Given the description of an element on the screen output the (x, y) to click on. 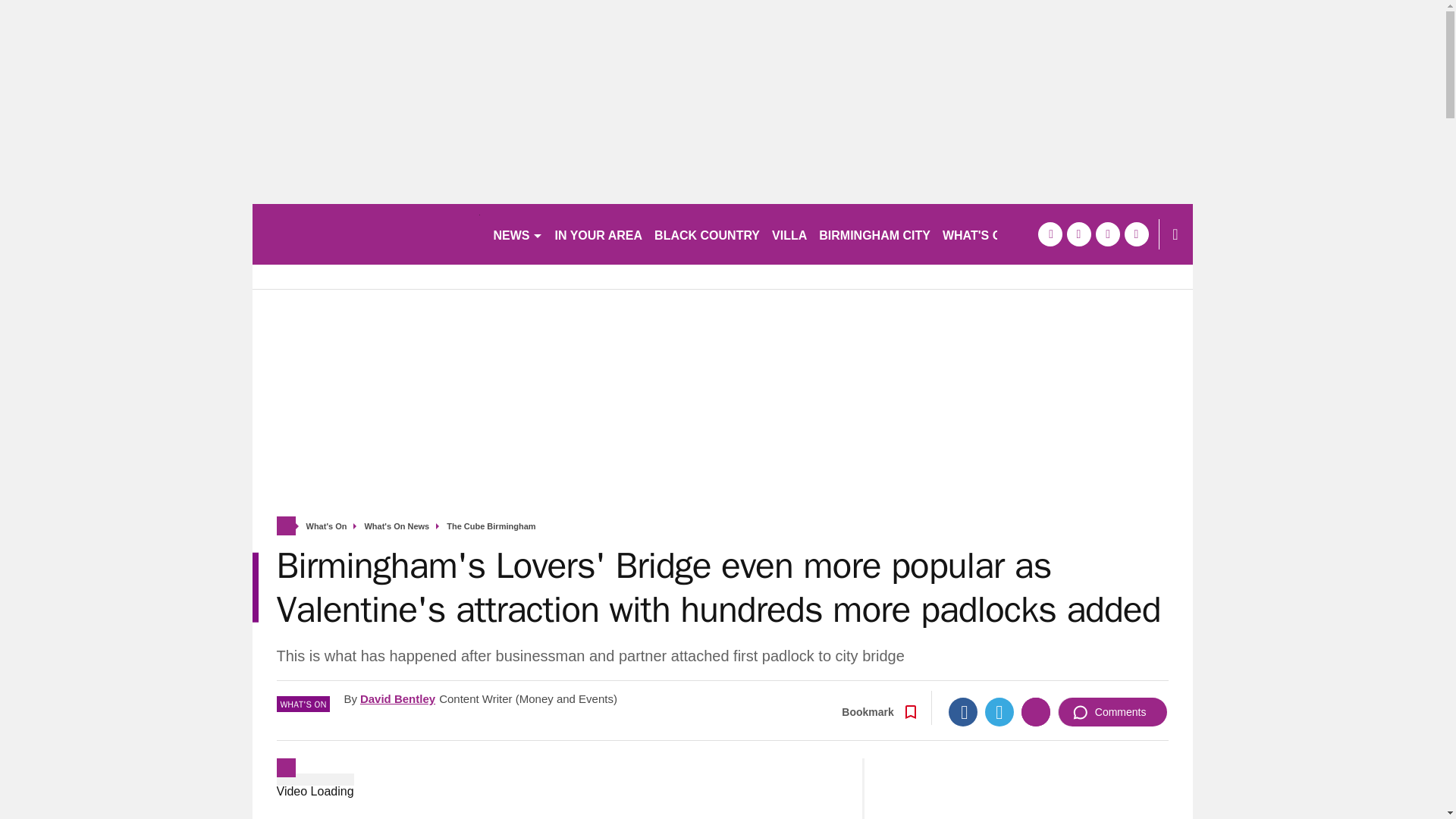
IN YOUR AREA (598, 233)
Twitter (999, 711)
WHAT'S ON (982, 233)
birminghammail (365, 233)
instagram (1136, 233)
Facebook (962, 711)
BLACK COUNTRY (706, 233)
NEWS (517, 233)
tiktok (1106, 233)
Comments (1112, 711)
facebook (1048, 233)
BIRMINGHAM CITY (874, 233)
twitter (1077, 233)
